Given the description of an element on the screen output the (x, y) to click on. 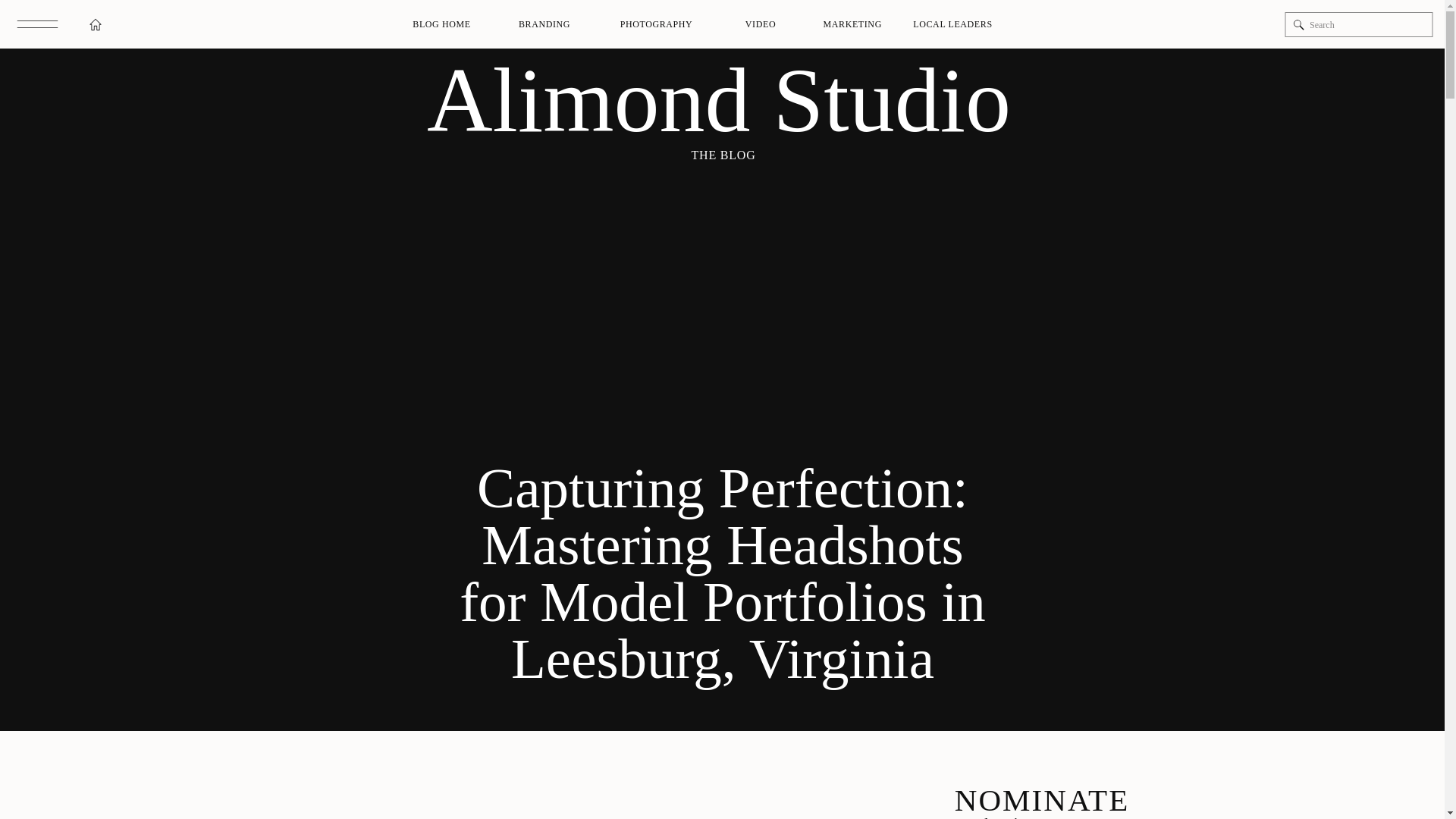
BLOG HOME (441, 24)
MARKETING (848, 24)
LOCAL LEADERS (952, 24)
VIDEO (759, 24)
PHOTOGRAPHY (656, 24)
BRANDING (544, 24)
